Given the description of an element on the screen output the (x, y) to click on. 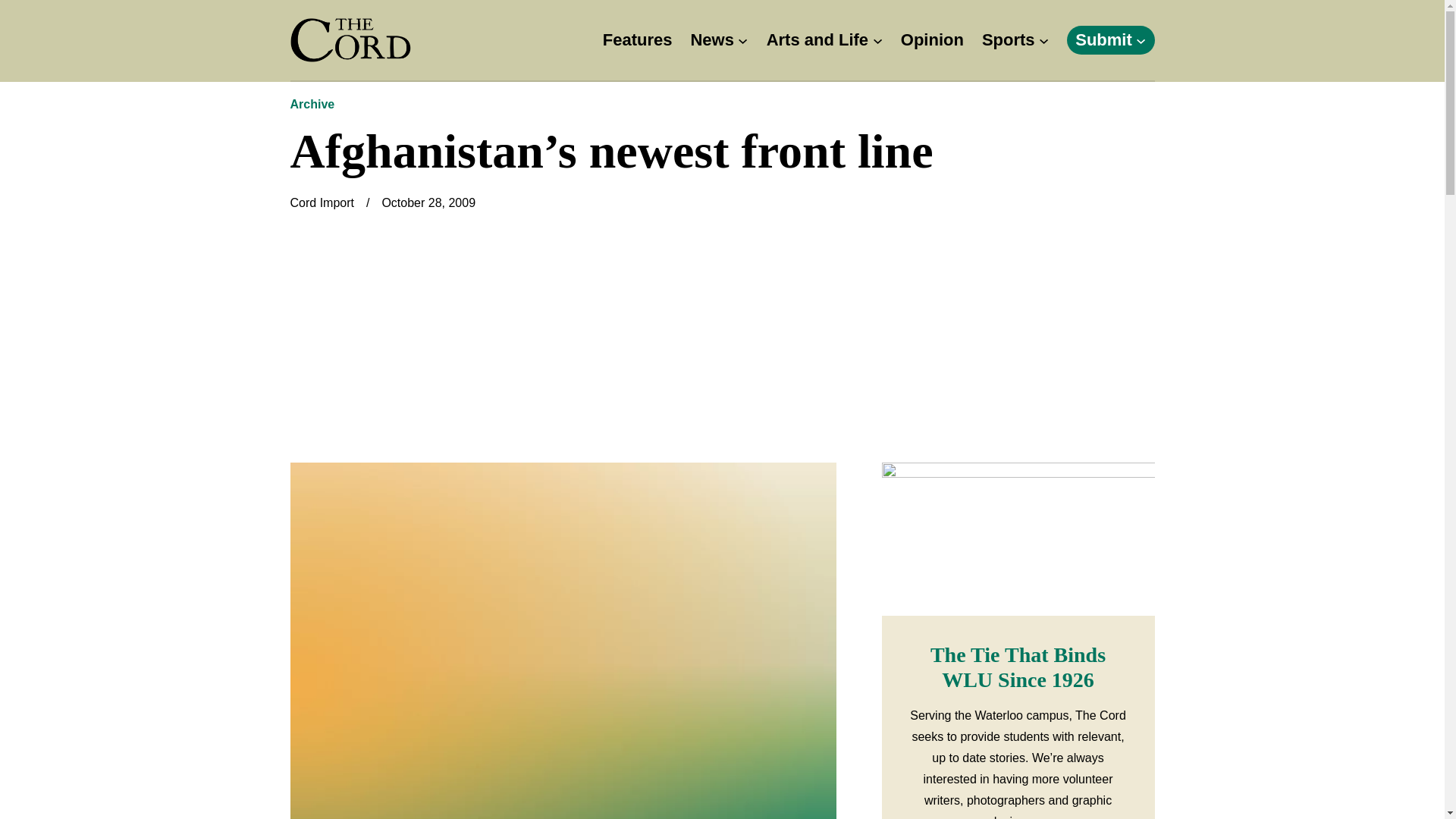
News (711, 40)
Sports (1008, 40)
Opinion (932, 40)
Arts and Life (817, 40)
Submit (1103, 40)
Archive (311, 103)
Features (637, 40)
